Given the description of an element on the screen output the (x, y) to click on. 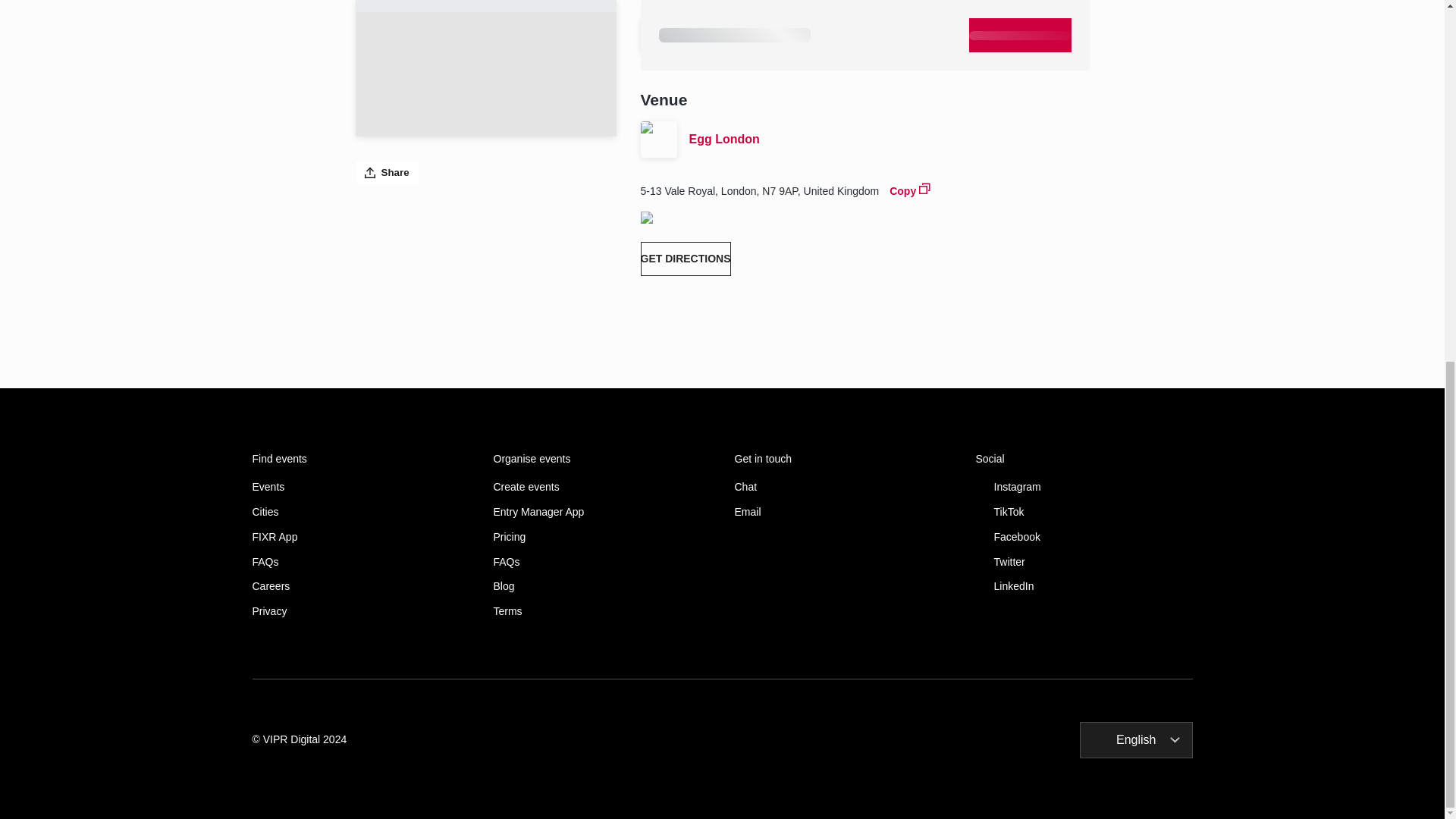
Careers (359, 585)
Egg London (888, 139)
Entry Manager App (601, 512)
Terms (601, 611)
Facebook (1083, 536)
Pricing (601, 536)
LinkedIn (1083, 585)
FOLLOW (1066, 35)
Events (359, 486)
Copy (909, 189)
